Given the description of an element on the screen output the (x, y) to click on. 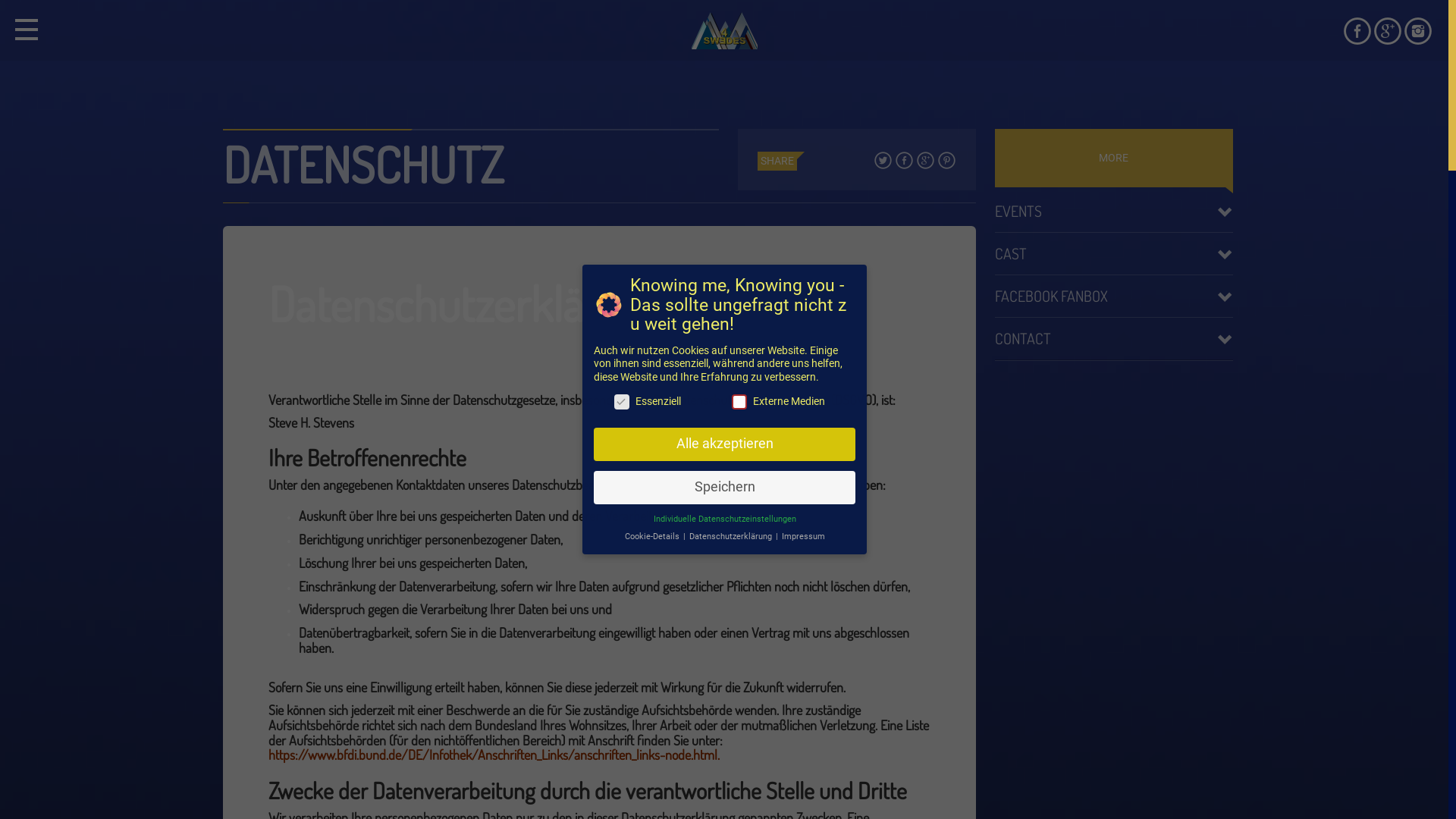
Cookie-Details Element type: text (652, 536)
Individuelle Datenschutzeinstellungen Element type: text (723, 519)
CAST Element type: text (1113, 253)
Alle akzeptieren Element type: text (723, 444)
Impressum Element type: text (802, 536)
CONTACT Element type: text (1113, 337)
Speichern Element type: text (723, 487)
EVENTS Element type: text (1113, 210)
FACEBOOK FANBOX Element type: text (1113, 295)
